Given the description of an element on the screen output the (x, y) to click on. 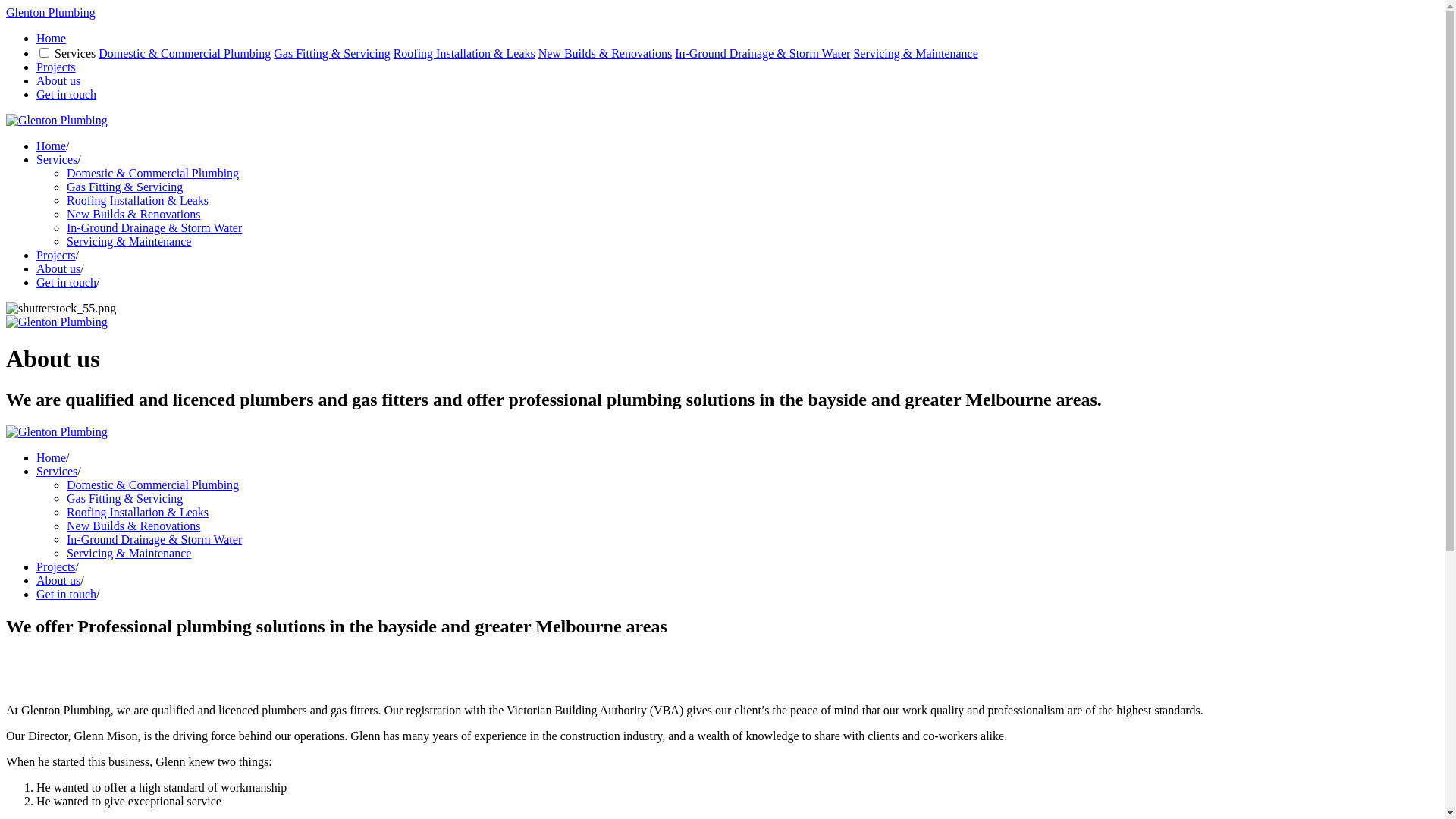
Get in touch Element type: text (66, 593)
Domestic & Commercial Plumbing Element type: text (152, 172)
Projects Element type: text (55, 66)
Roofing Installation & Leaks Element type: text (464, 53)
New Builds & Renovations Element type: text (133, 213)
Gas Fitting & Servicing Element type: text (331, 53)
Gas Fitting & Servicing Element type: text (124, 186)
New Builds & Renovations Element type: text (604, 53)
Get in touch Element type: text (66, 282)
Get in touch Element type: text (66, 93)
Roofing Installation & Leaks Element type: text (137, 511)
In-Ground Drainage & Storm Water Element type: text (153, 227)
Glenton Plumbing Element type: text (50, 12)
New Builds & Renovations Element type: text (133, 525)
Servicing & Maintenance Element type: text (128, 241)
About us Element type: text (58, 80)
About us Element type: text (58, 580)
Servicing & Maintenance Element type: text (128, 552)
Home Element type: text (50, 37)
Gas Fitting & Servicing Element type: text (124, 498)
In-Ground Drainage & Storm Water Element type: text (153, 539)
Roofing Installation & Leaks Element type: text (137, 200)
Projects Element type: text (55, 254)
Home Element type: text (50, 145)
Servicing & Maintenance Element type: text (915, 53)
Services Element type: text (56, 159)
In-Ground Drainage & Storm Water Element type: text (762, 53)
Domestic & Commercial Plumbing Element type: text (152, 484)
Home Element type: text (50, 457)
Services Element type: text (56, 470)
Projects Element type: text (55, 566)
Domestic & Commercial Plumbing Element type: text (184, 53)
About us Element type: text (58, 268)
